Given the description of an element on the screen output the (x, y) to click on. 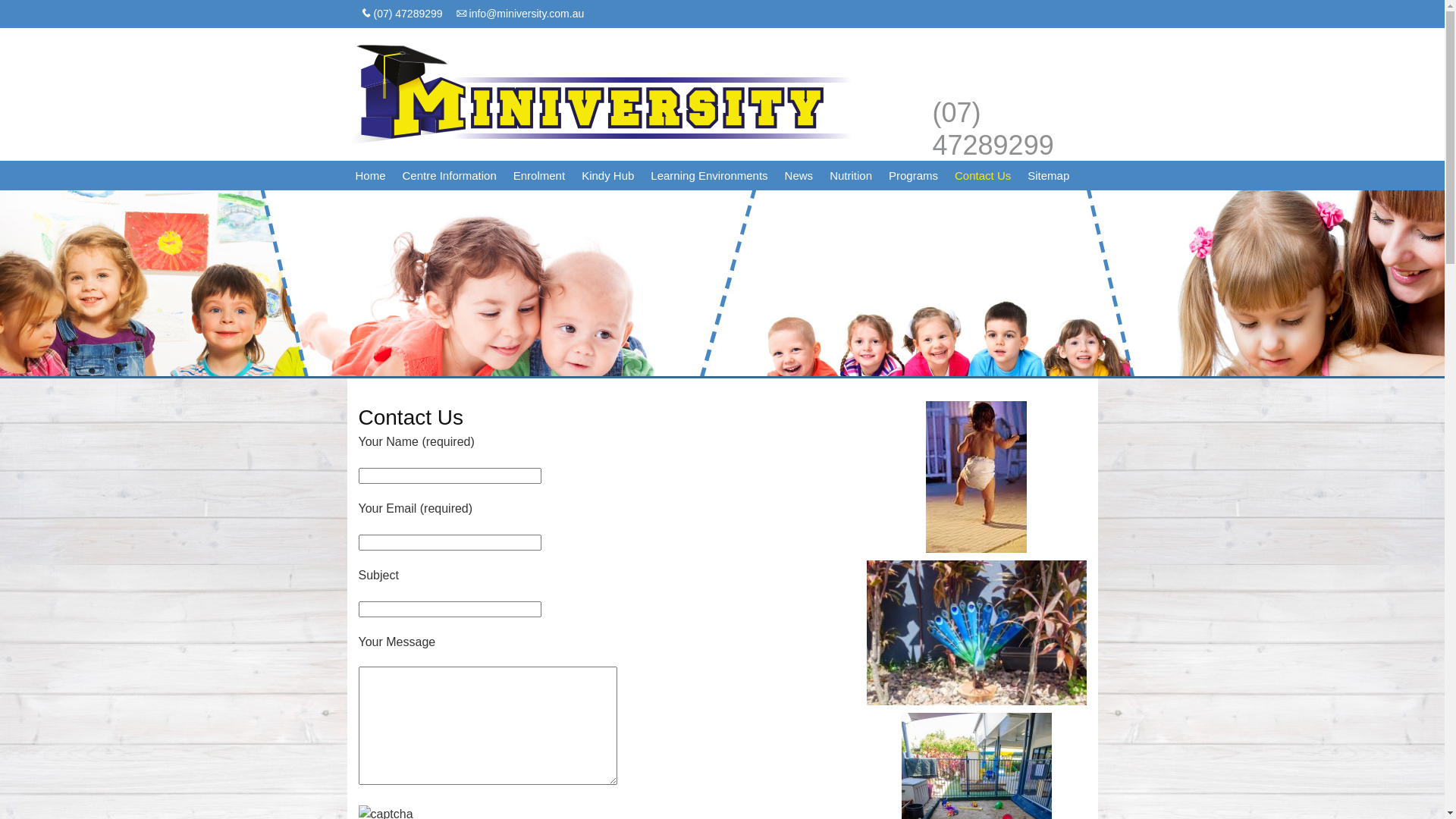
Nutrition Element type: text (850, 175)
Kindy Hub Element type: text (607, 175)
Contact Us Element type: text (982, 175)
Programs Element type: text (913, 175)
Sitemap Element type: text (1048, 175)
News Element type: text (799, 175)
Home Element type: text (370, 175)
Learning Environments Element type: text (708, 175)
Enrolment Element type: text (539, 175)
Miniversity Element type: text (601, 99)
Centre Information Element type: text (449, 175)
